Given the description of an element on the screen output the (x, y) to click on. 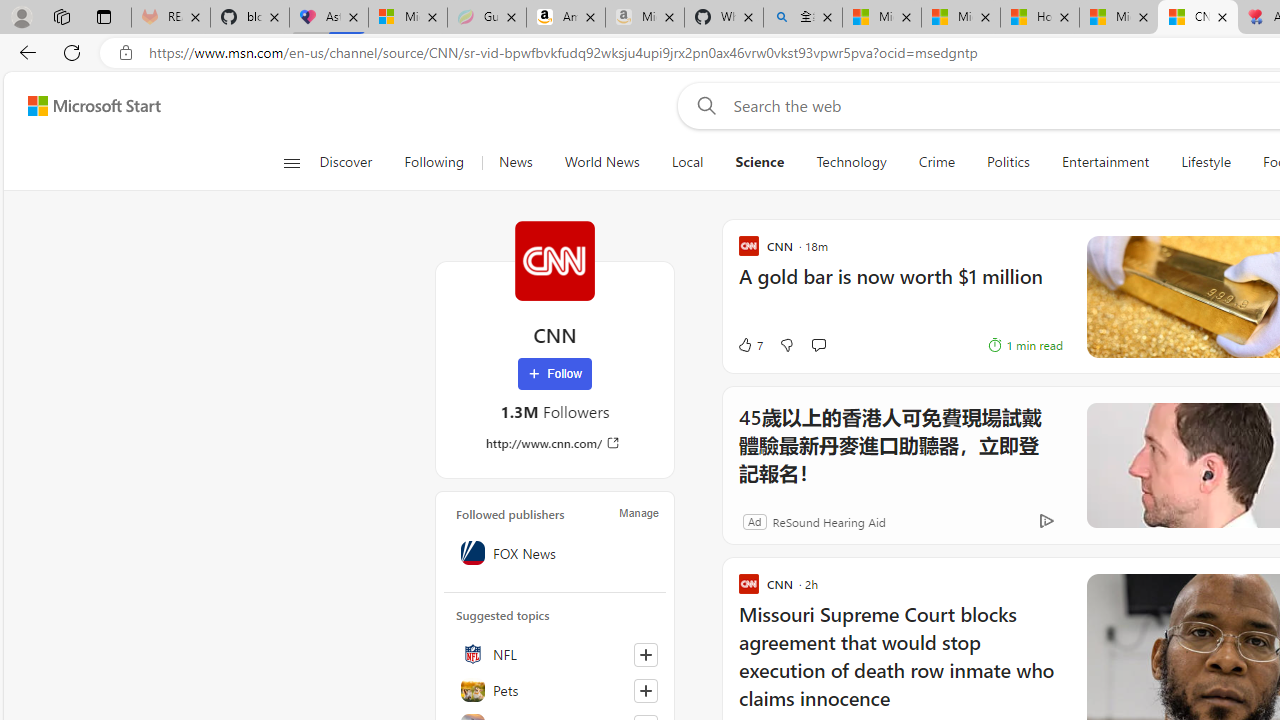
Follow (554, 373)
Entertainment (1105, 162)
Skip to content (86, 105)
NFL (555, 654)
Politics (1008, 162)
A gold bar is now worth $1 million (900, 286)
Local (687, 162)
Dislike (786, 344)
Start the conversation (818, 345)
Local (687, 162)
